Given the description of an element on the screen output the (x, y) to click on. 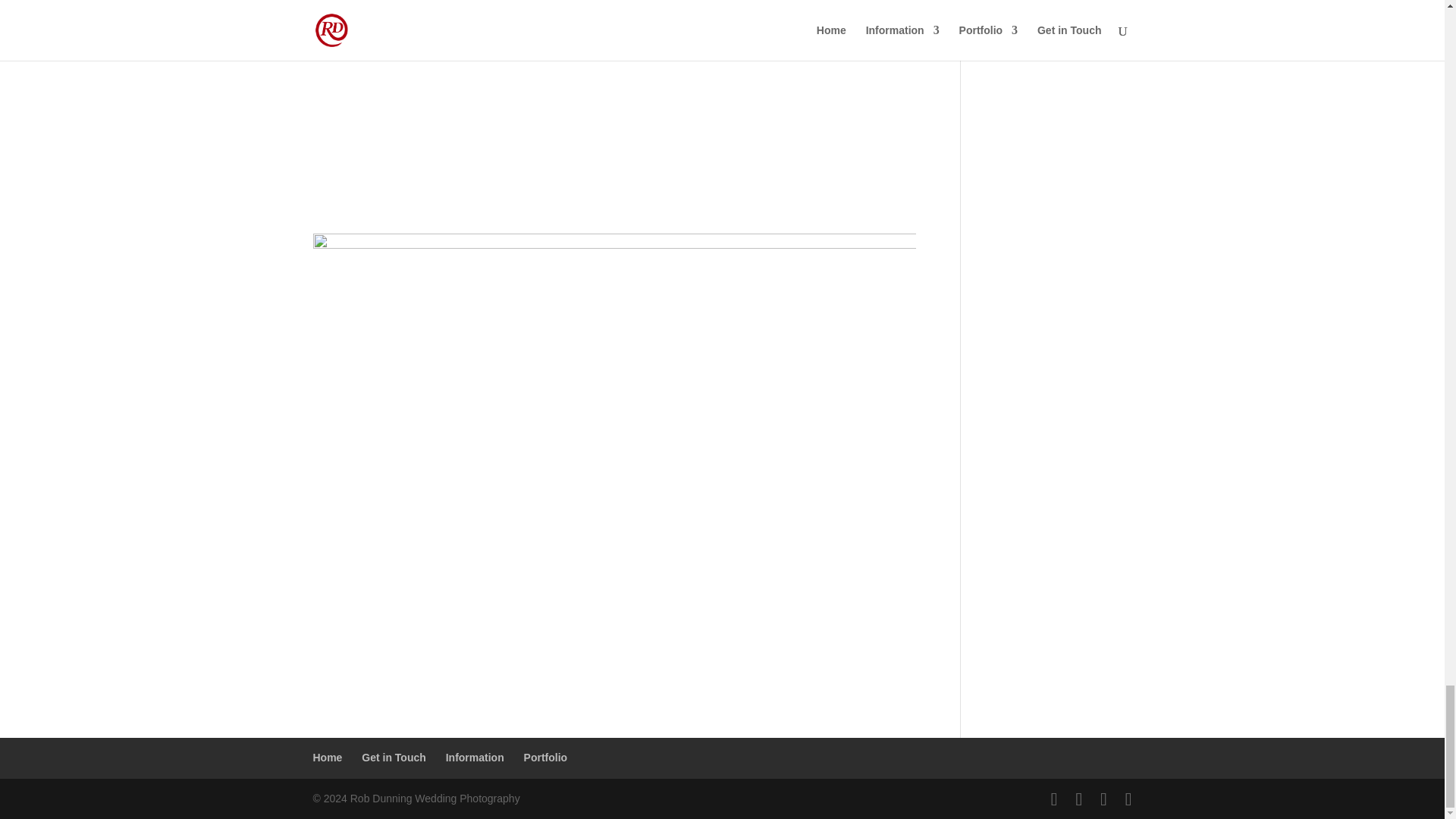
Home (327, 757)
Portfolio (545, 757)
Get in Touch (393, 757)
Information (474, 757)
